Given the description of an element on the screen output the (x, y) to click on. 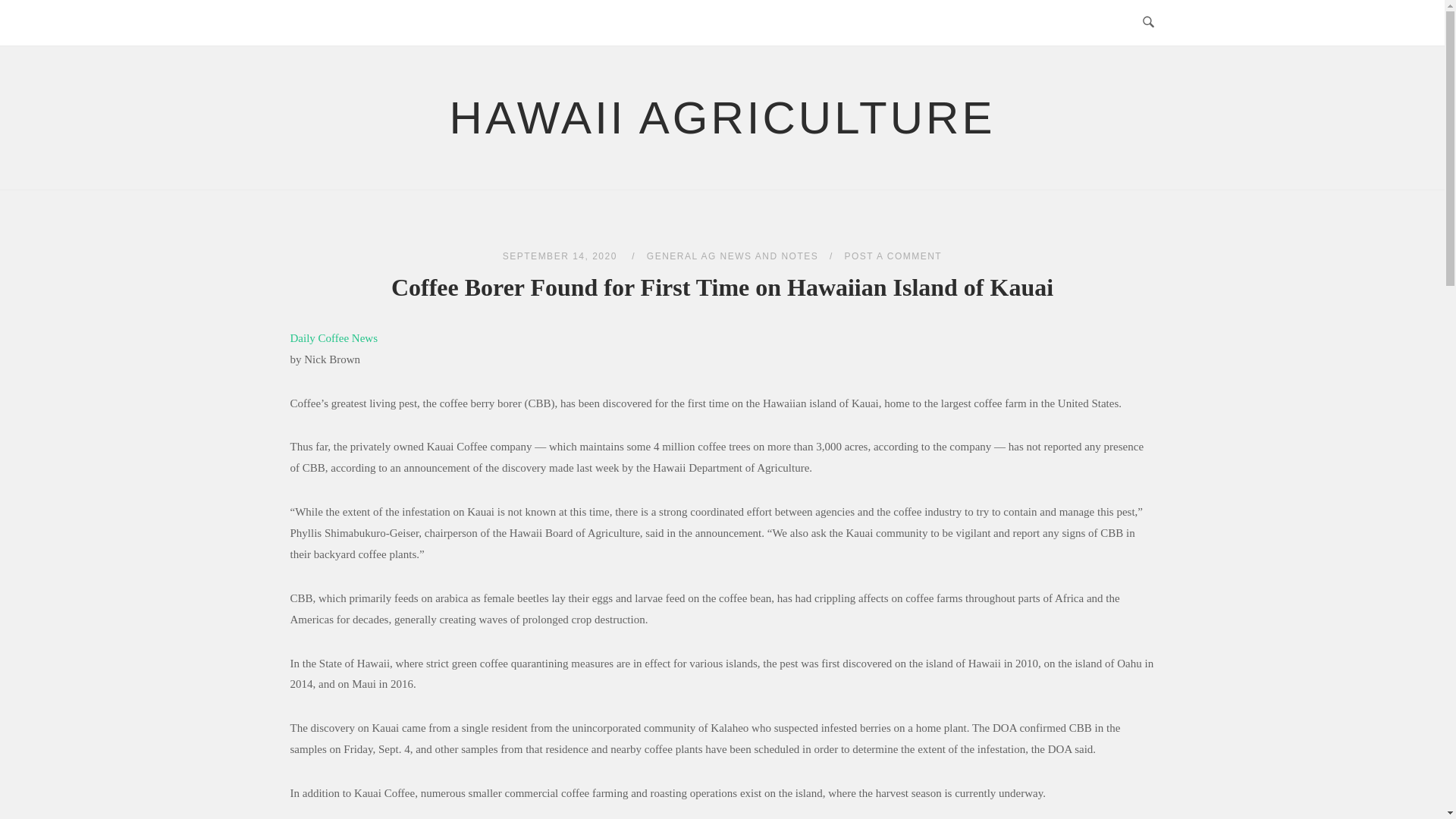
HAWAII AGRICULTURE (722, 117)
Daily Coffee News (333, 337)
GENERAL AG NEWS AND NOTES (732, 255)
POST A COMMENT (893, 255)
